Given the description of an element on the screen output the (x, y) to click on. 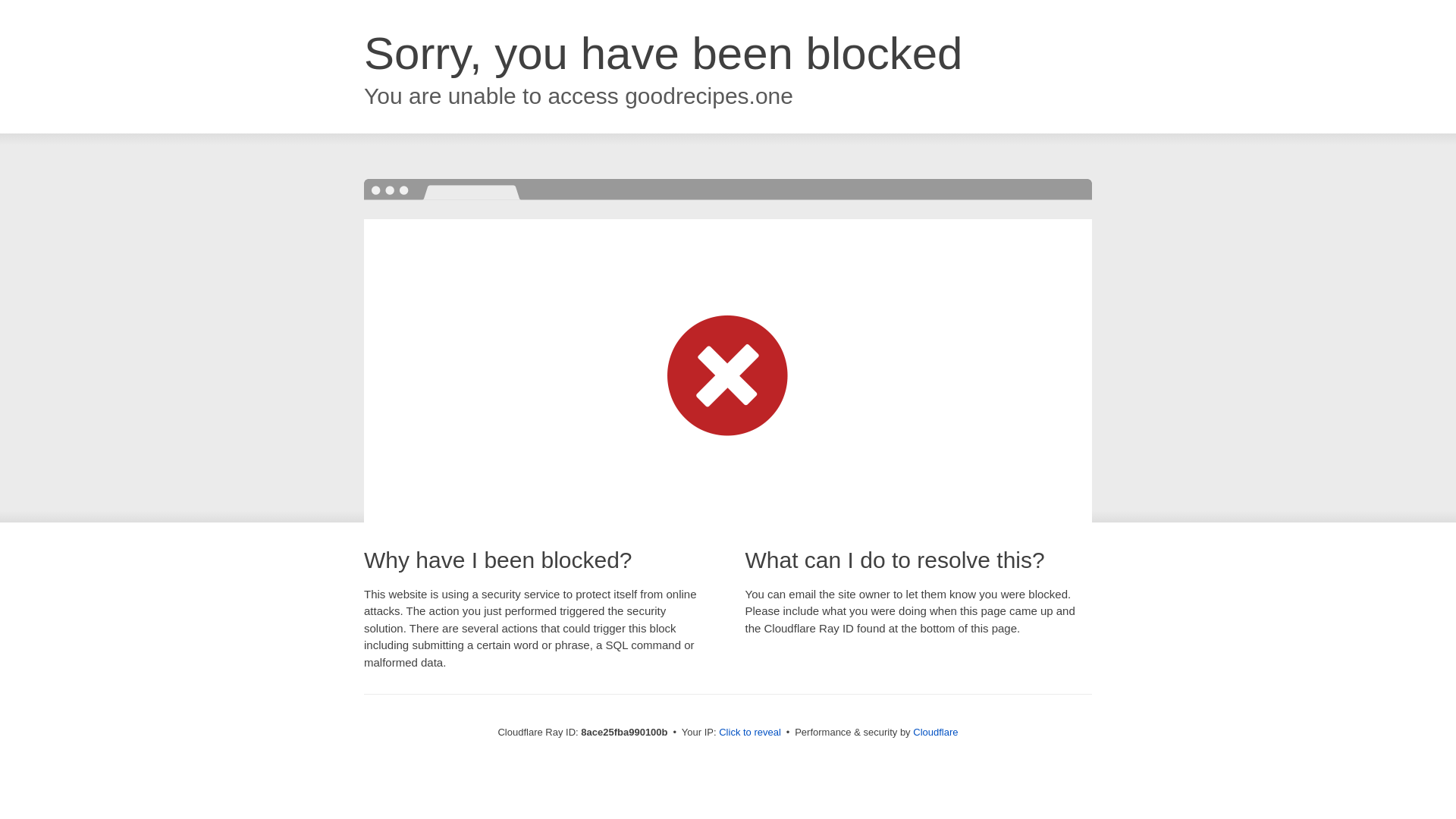
Cloudflare (935, 731)
Click to reveal (749, 732)
